Given the description of an element on the screen output the (x, y) to click on. 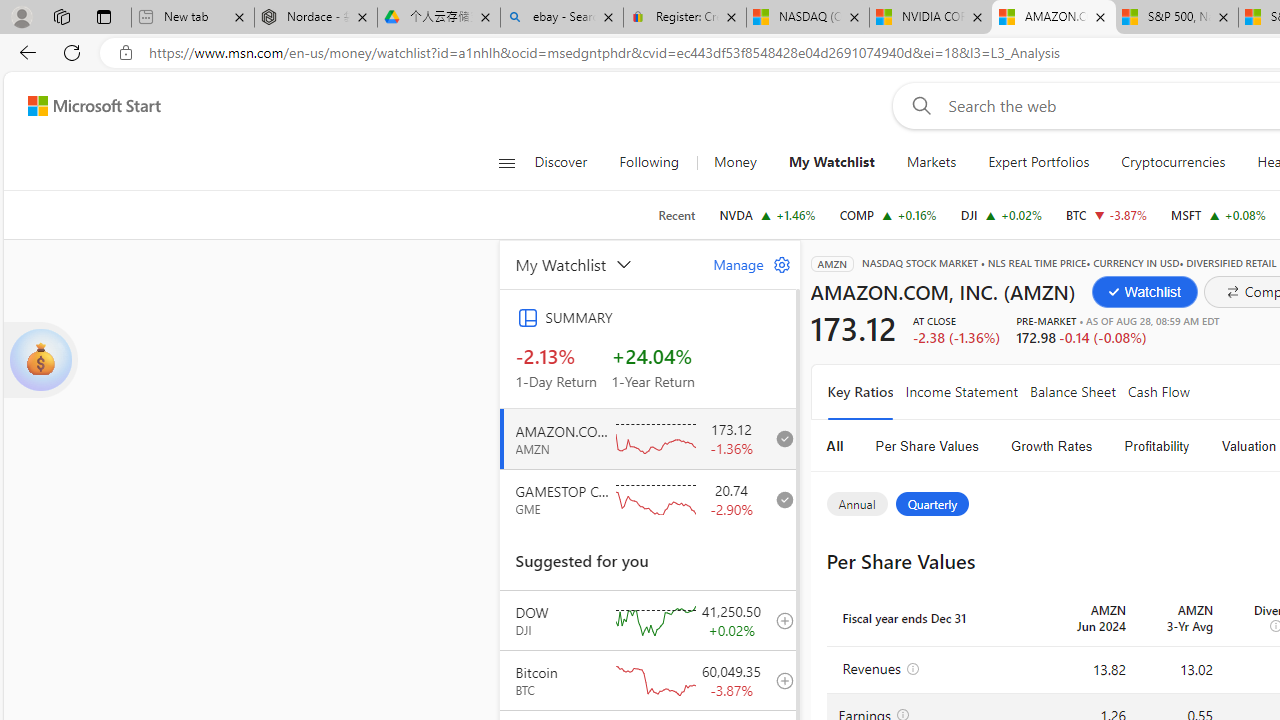
Following (649, 162)
MSFT MICROSOFT CORPORATION increase 413.84 +0.35 +0.08% (1217, 214)
Quarterly (931, 503)
COMP NASDAQ increase 17,754.82 +29.06 +0.16% (887, 214)
BTC Bitcoin decrease 60,049.35 -2,320.91 -3.87% (1106, 214)
Profitability (1157, 445)
Key Ratios (859, 391)
ebay - Search (561, 17)
Cash Flow (1158, 391)
